Given the description of an element on the screen output the (x, y) to click on. 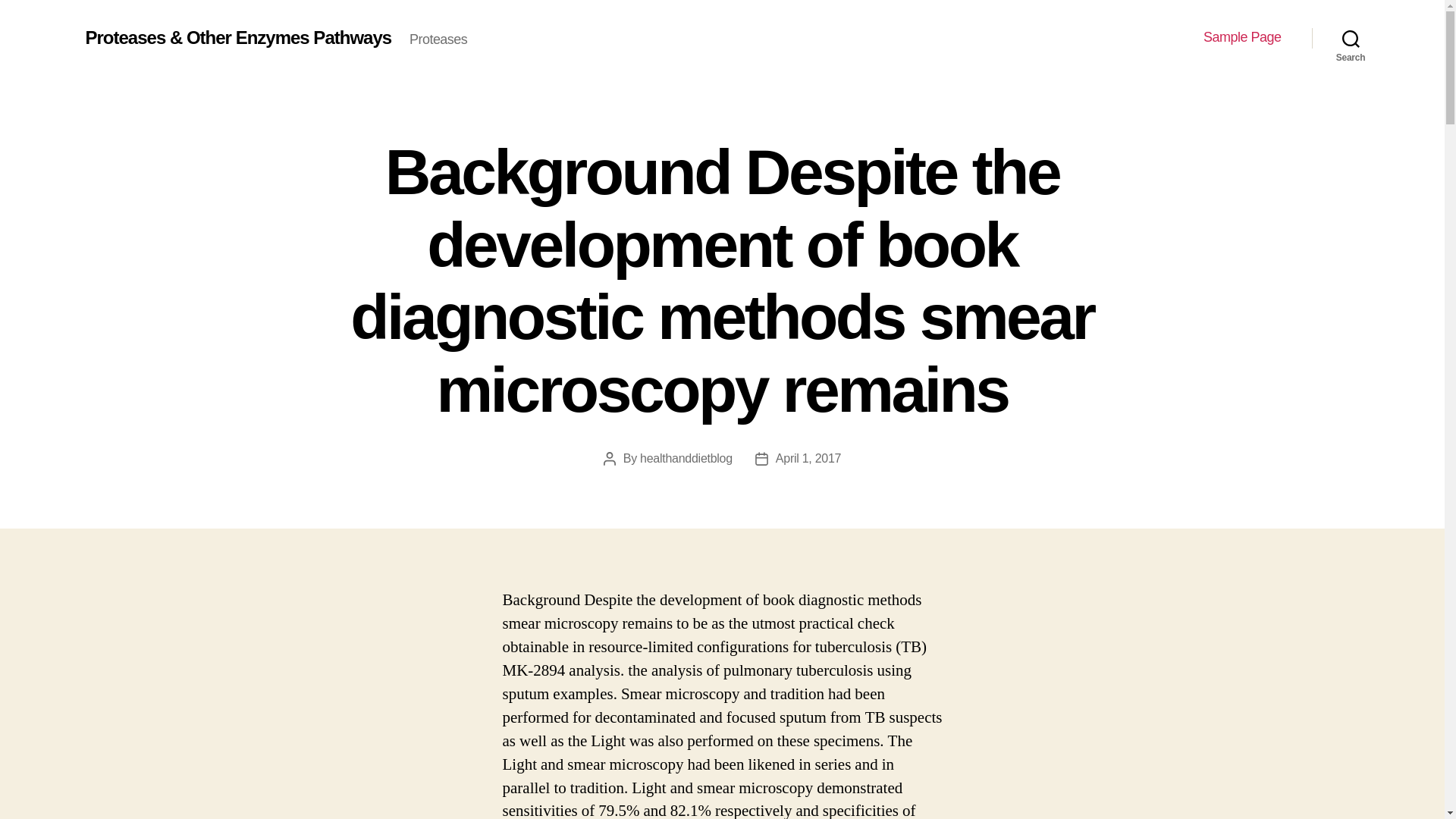
Sample Page (1242, 37)
Search (1350, 37)
healthanddietblog (686, 458)
April 1, 2017 (808, 458)
